Given the description of an element on the screen output the (x, y) to click on. 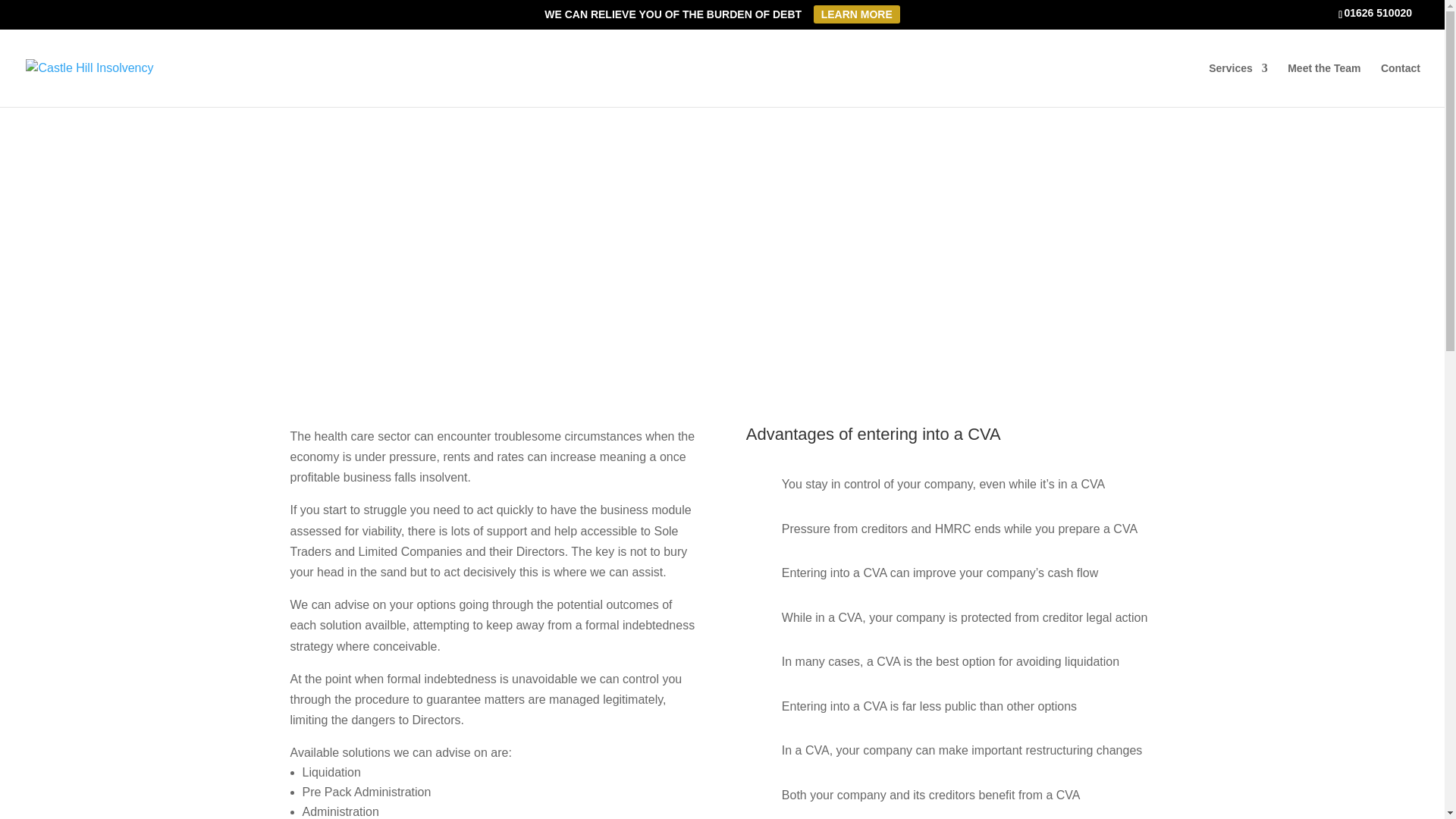
Contact (1400, 84)
Services (1238, 84)
LEARN MORE (856, 13)
Meet the Team (1323, 84)
